Given the description of an element on the screen output the (x, y) to click on. 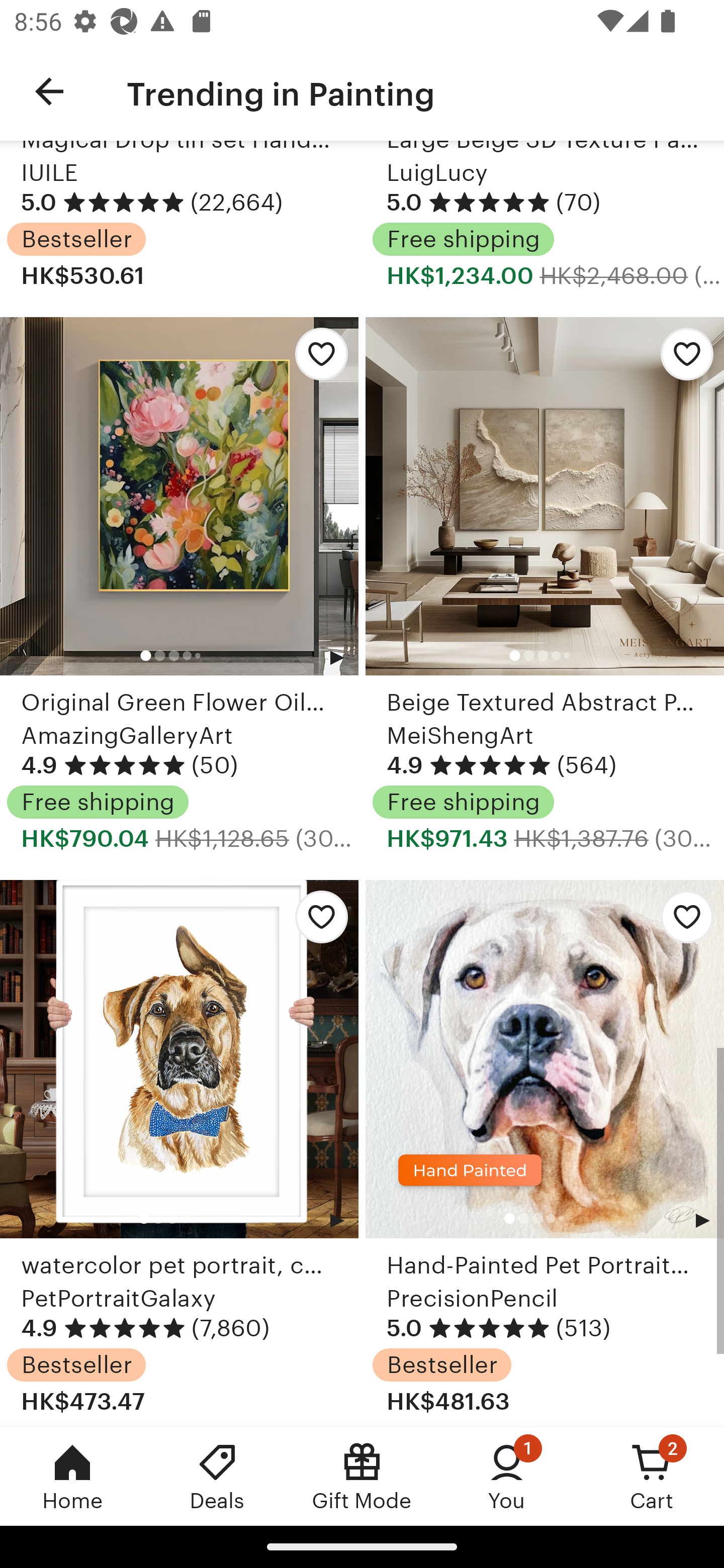
Navigate up (49, 91)
Deals (216, 1475)
Gift Mode (361, 1475)
You, 1 new notification You (506, 1475)
Cart, 2 new notifications Cart (651, 1475)
